Given the description of an element on the screen output the (x, y) to click on. 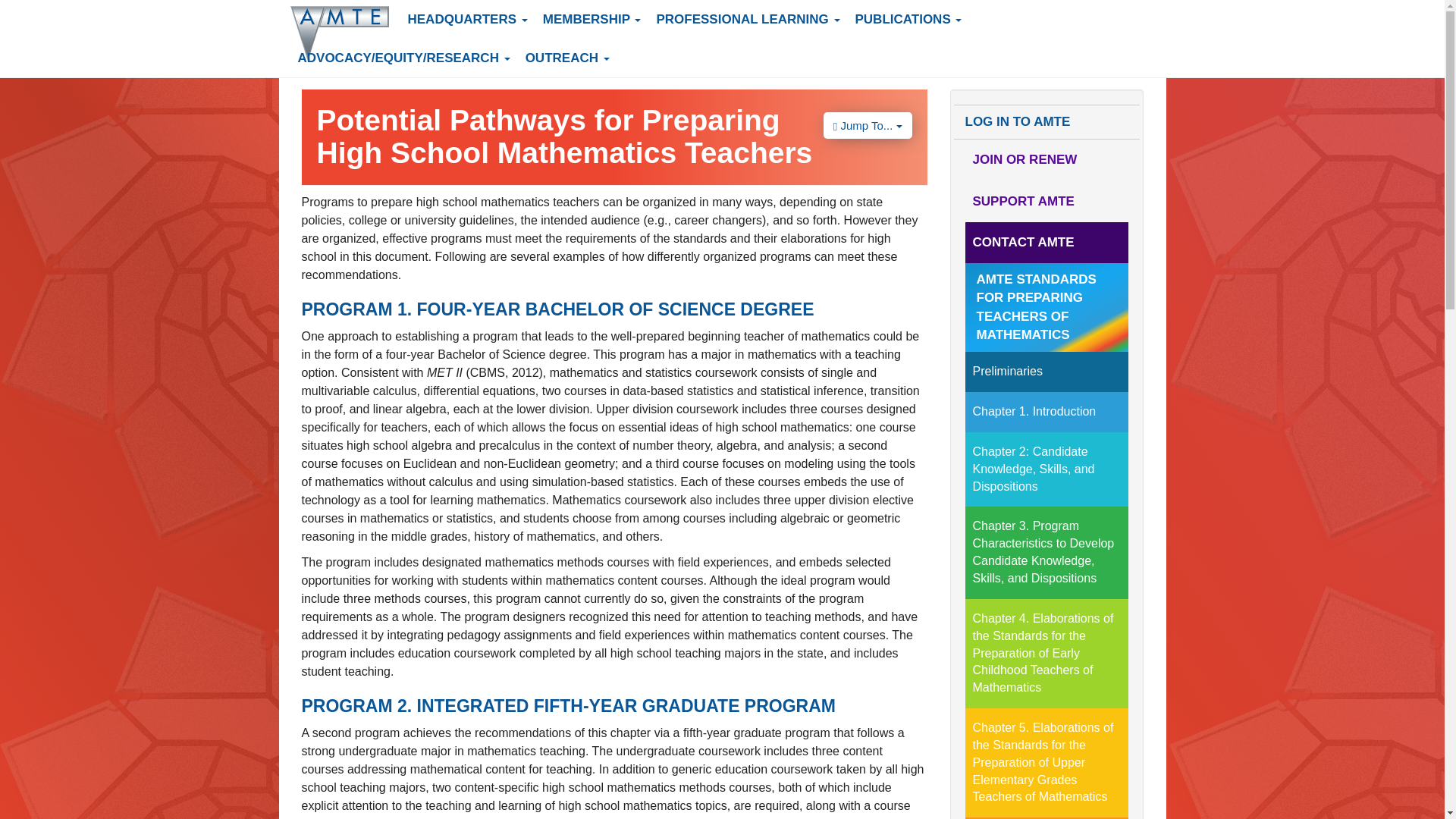
Membership Information (1044, 159)
MEMBERSHIP (592, 19)
HEADQUARTERS (467, 19)
PUBLICATIONS (908, 19)
Support AMTE (1044, 200)
PROFESSIONAL LEARNING (747, 19)
Home (343, 33)
